Given the description of an element on the screen output the (x, y) to click on. 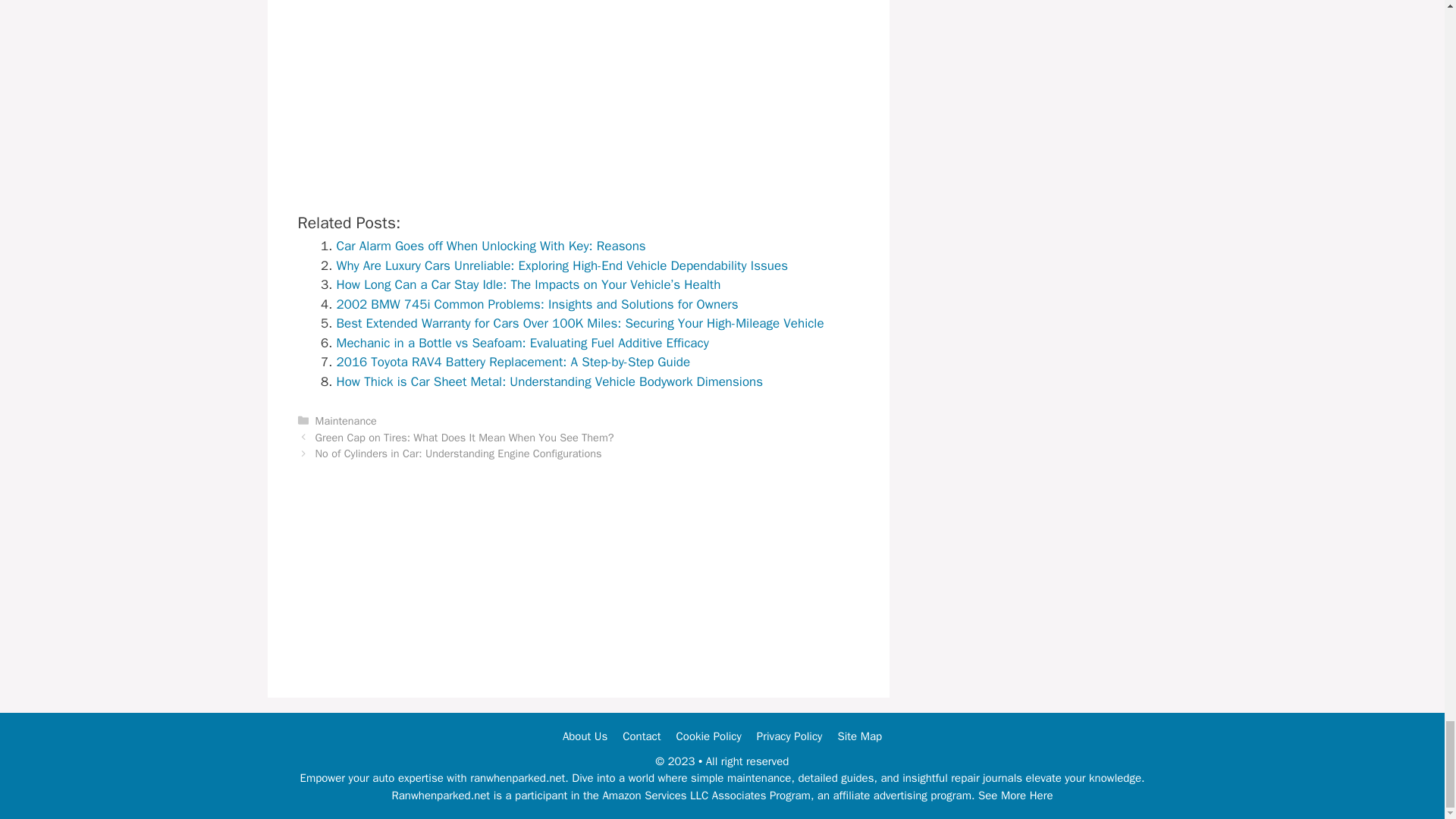
2016 Toyota RAV4 Battery Replacement: A Step-by-Step Guide (513, 361)
Car Alarm Goes off When Unlocking With Key: Reasons (491, 245)
